Given the description of an element on the screen output the (x, y) to click on. 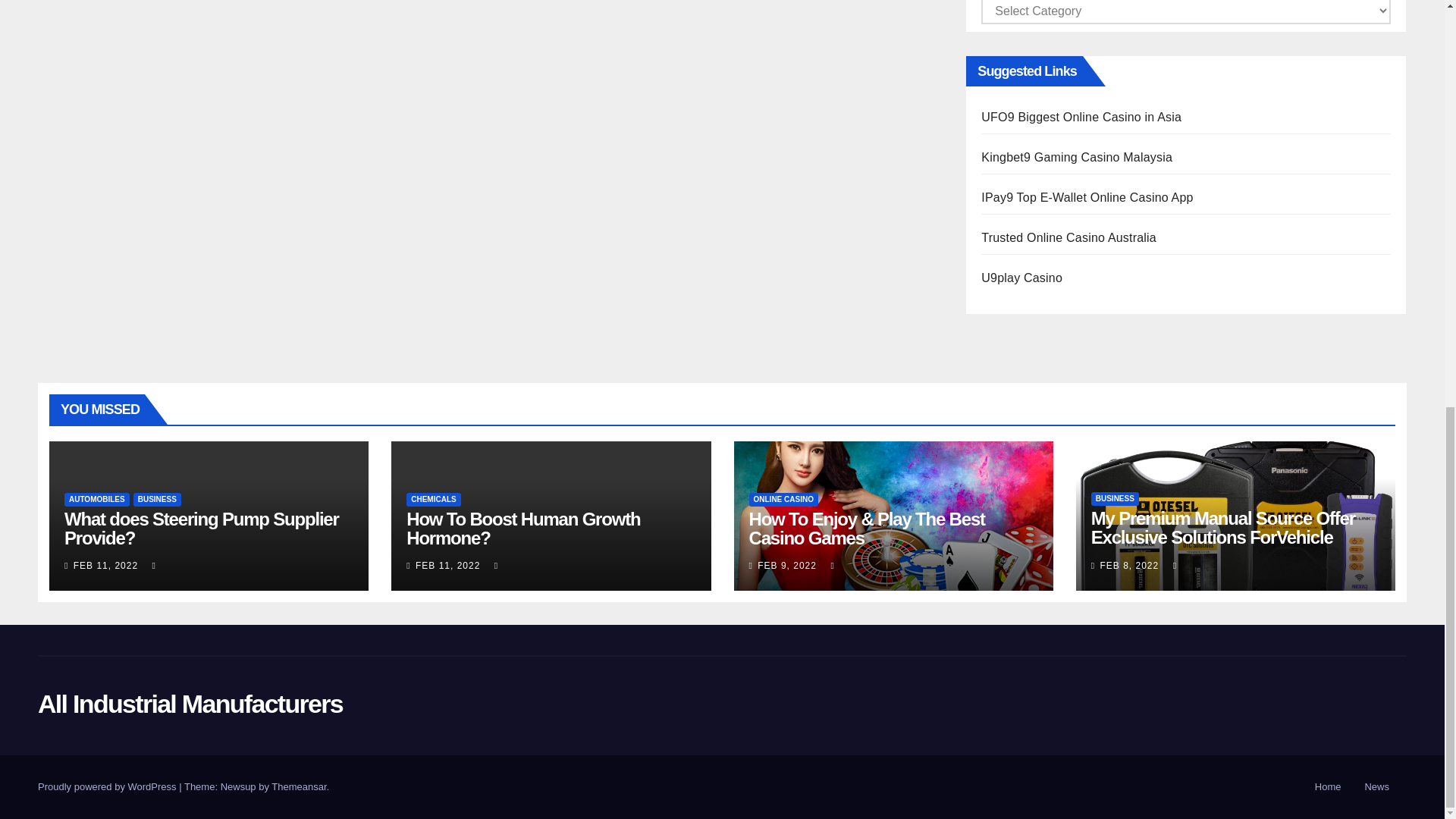
AUTOMOBILES (96, 499)
IPay9 Top E-Wallet Online Casino App (1086, 196)
UFO9 Biggest Online Casino in Asia (1080, 116)
Home (1328, 786)
Permalink to: How To Boost Human Growth Hormone? (523, 527)
FEB 11, 2022 (106, 565)
Trusted Online Casino Australia (1068, 237)
Kingbet9 Gaming Casino Malaysia (1076, 156)
What does Steering Pump Supplier Provide? (201, 527)
U9play Casino (1021, 277)
Permalink to: What does Steering Pump Supplier Provide? (201, 527)
BUSINESS (156, 499)
